Given the description of an element on the screen output the (x, y) to click on. 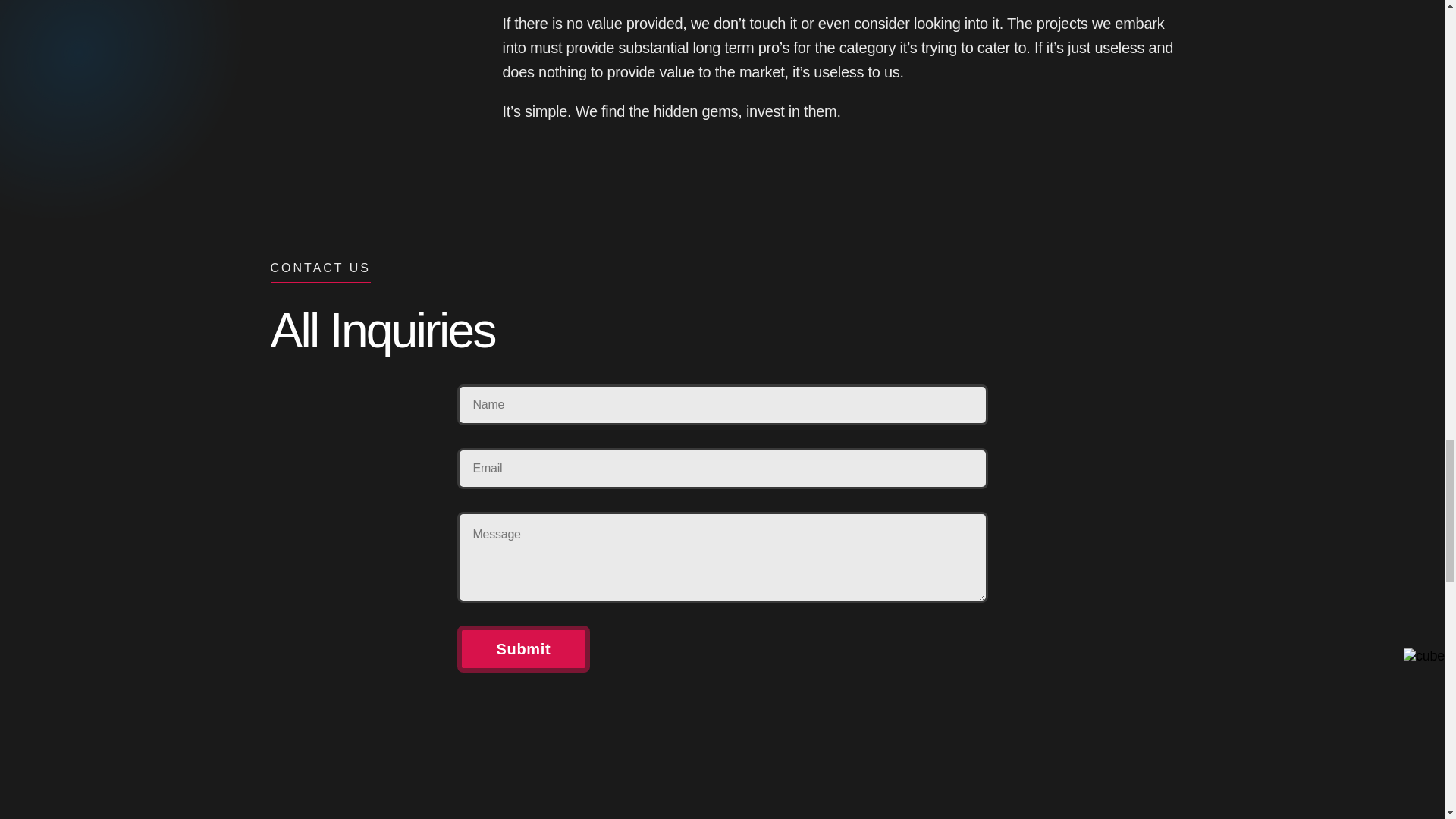
Submit (523, 648)
Submit (523, 648)
